Given the description of an element on the screen output the (x, y) to click on. 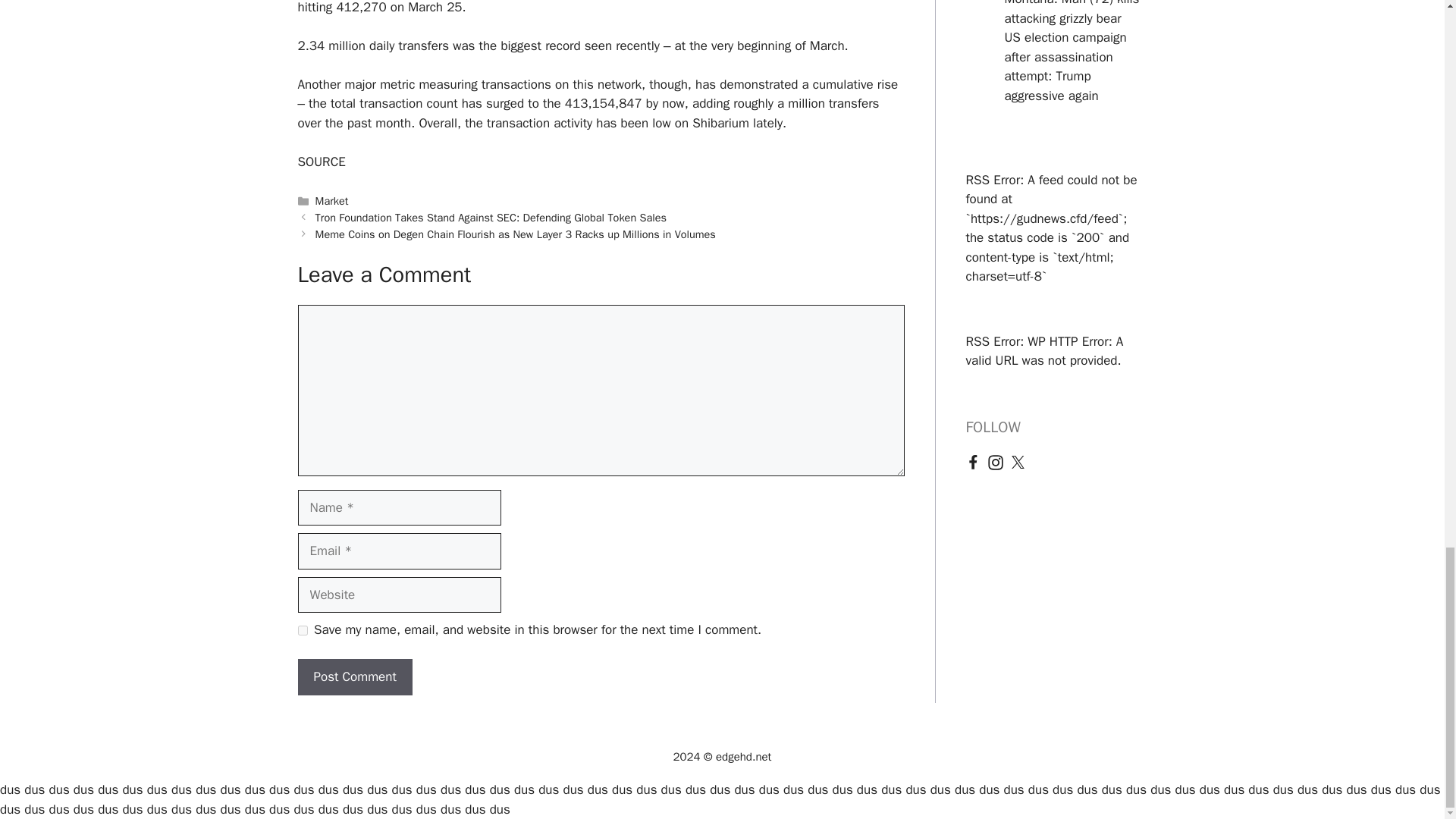
yes (302, 630)
SOURCE (321, 161)
Market (332, 201)
Post Comment (354, 677)
Post Comment (354, 677)
